Given the description of an element on the screen output the (x, y) to click on. 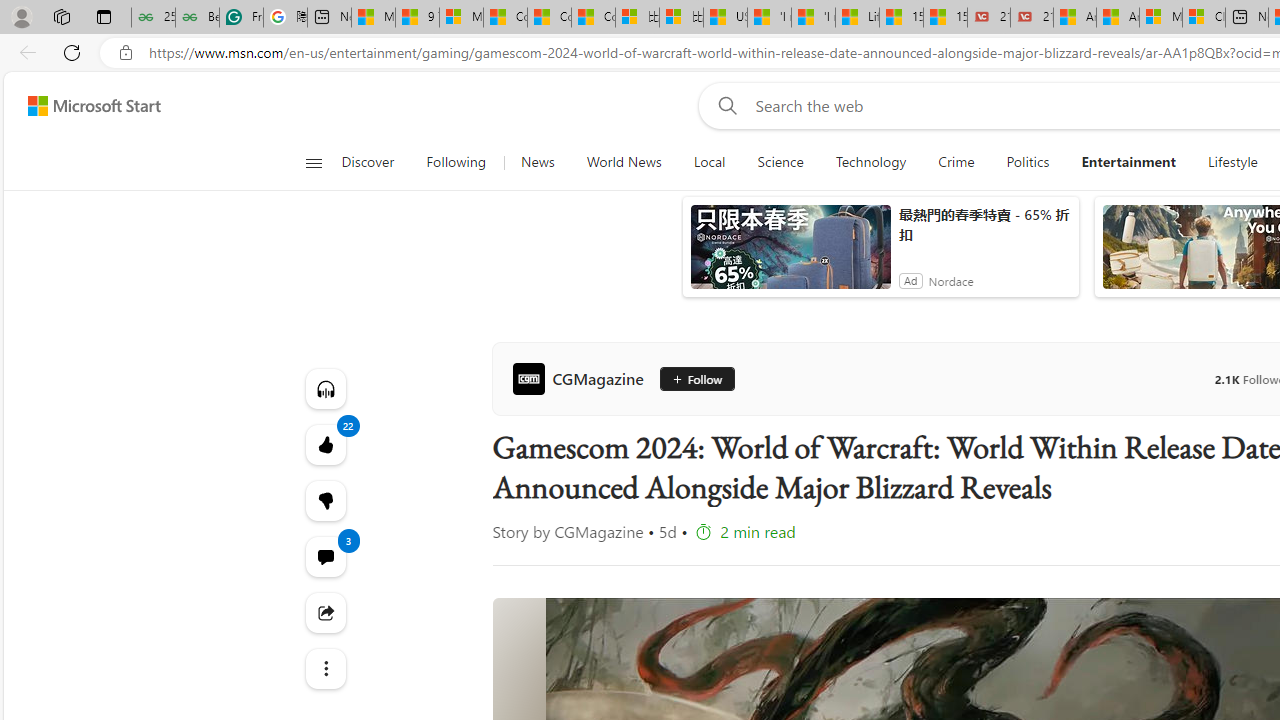
Crime (956, 162)
World News (623, 162)
25 Basic Linux Commands For Beginners - GeeksforGeeks (153, 17)
Entertainment (1128, 162)
Technology (870, 162)
Open navigation menu (313, 162)
